Given the description of an element on the screen output the (x, y) to click on. 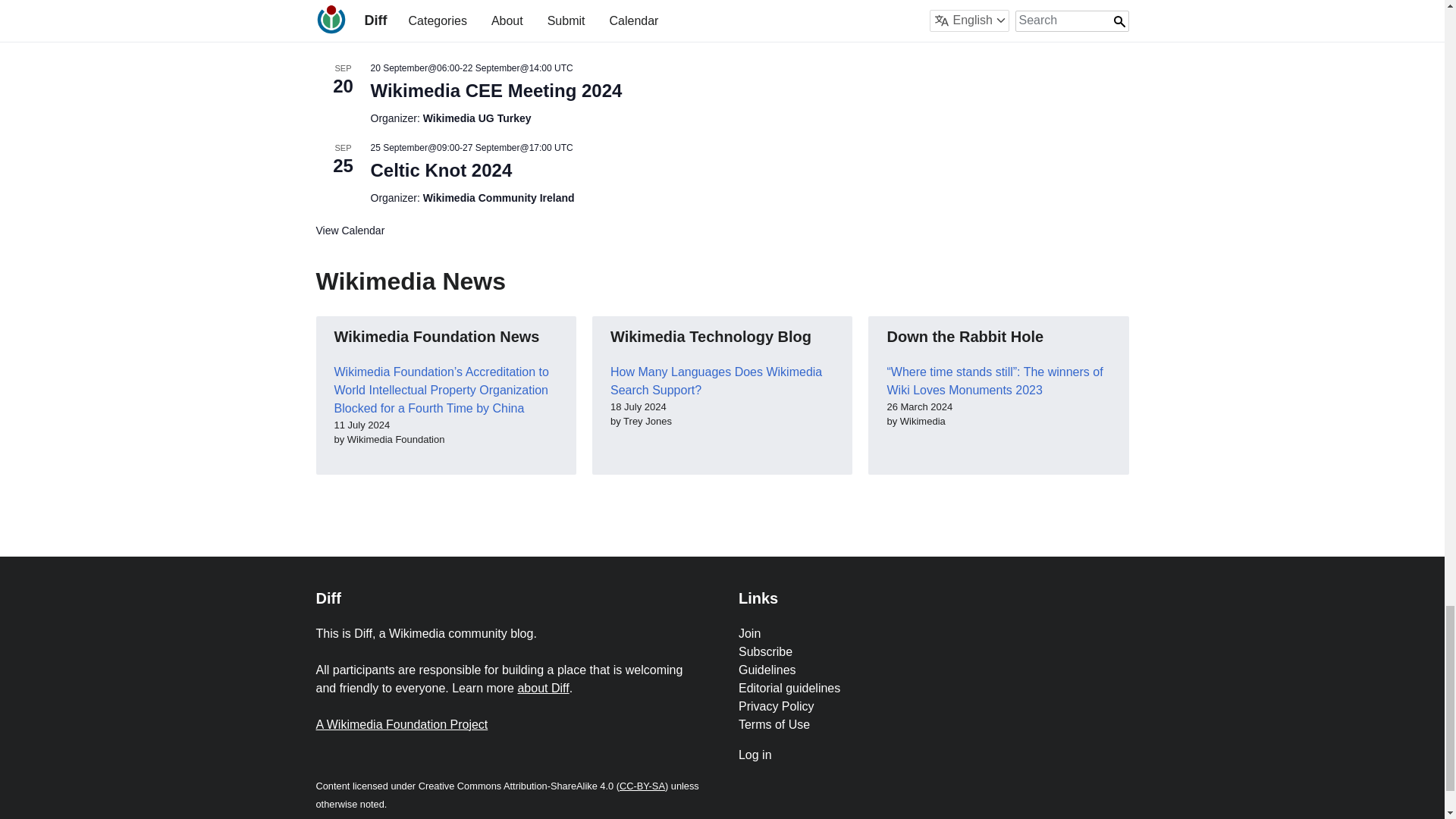
Wikimania Katowice (456, 34)
Wikimedia UG Turkey (477, 118)
Celtic Knot 2024 (440, 169)
Wikimedia CEE Meeting 2024 (495, 90)
